Given the description of an element on the screen output the (x, y) to click on. 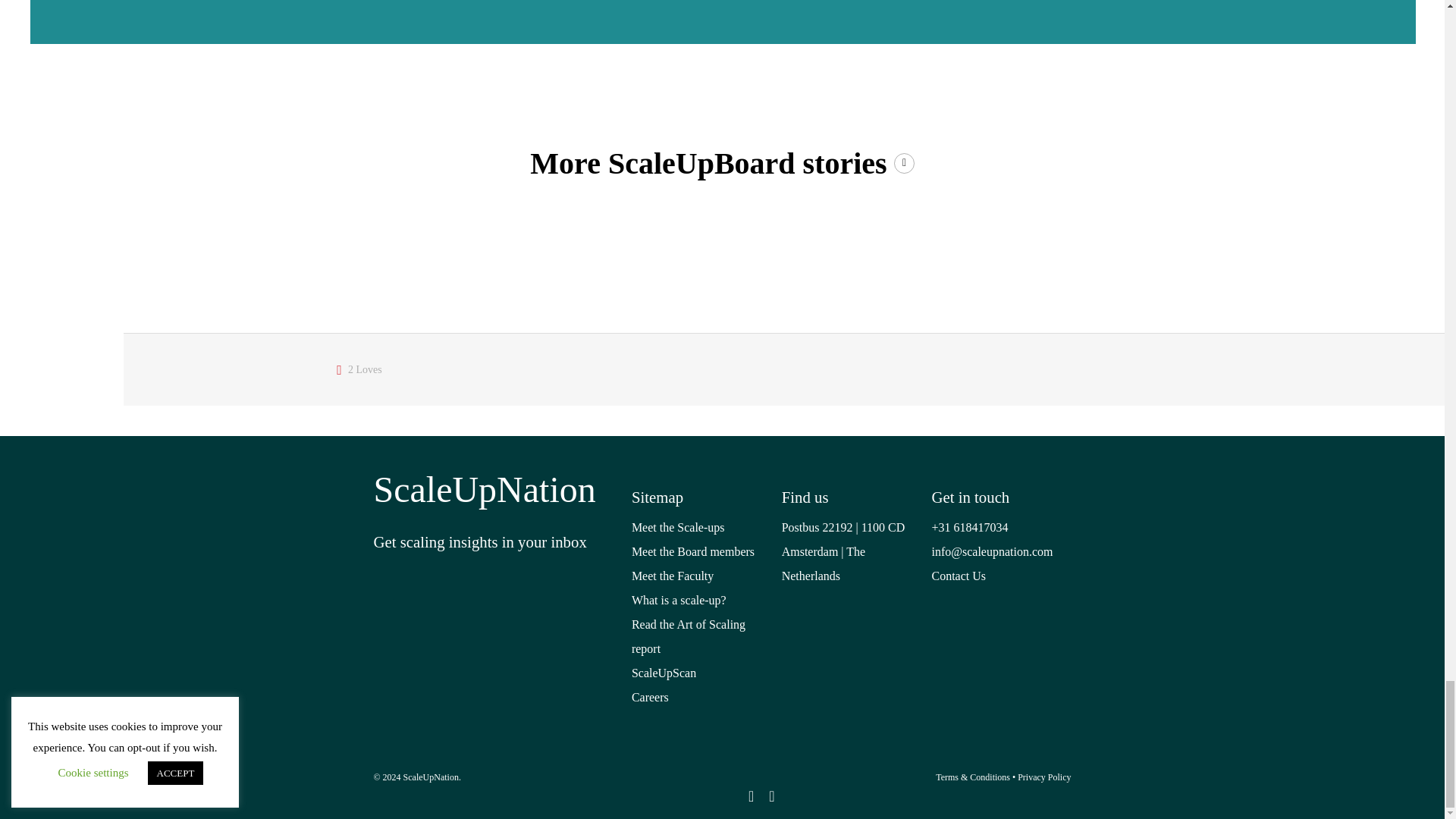
Love this (359, 368)
